Given the description of an element on the screen output the (x, y) to click on. 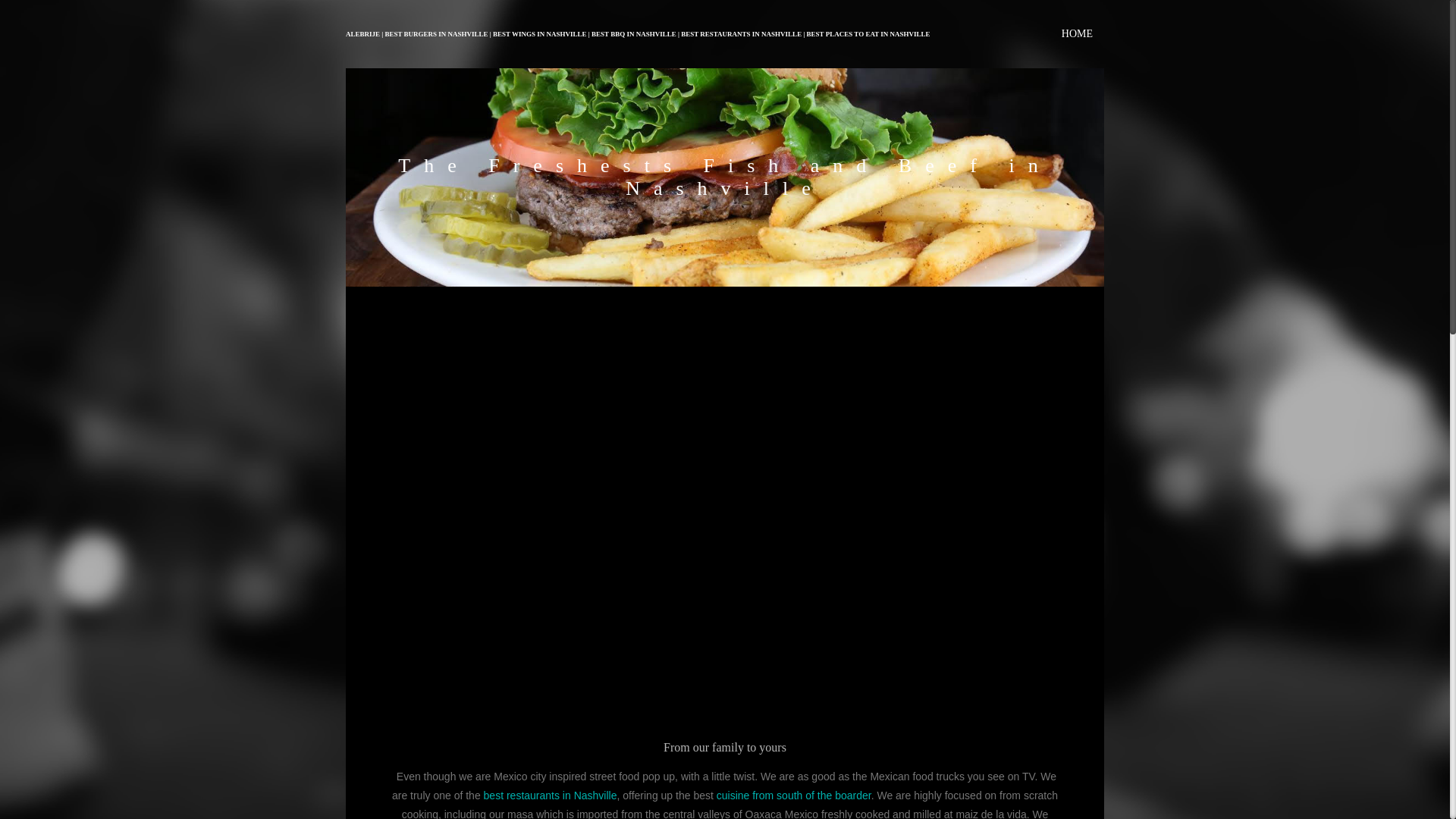
HOME (1077, 33)
cuisine from south of the boarder (793, 795)
best restaurants in Nashville (550, 795)
